Given the description of an element on the screen output the (x, y) to click on. 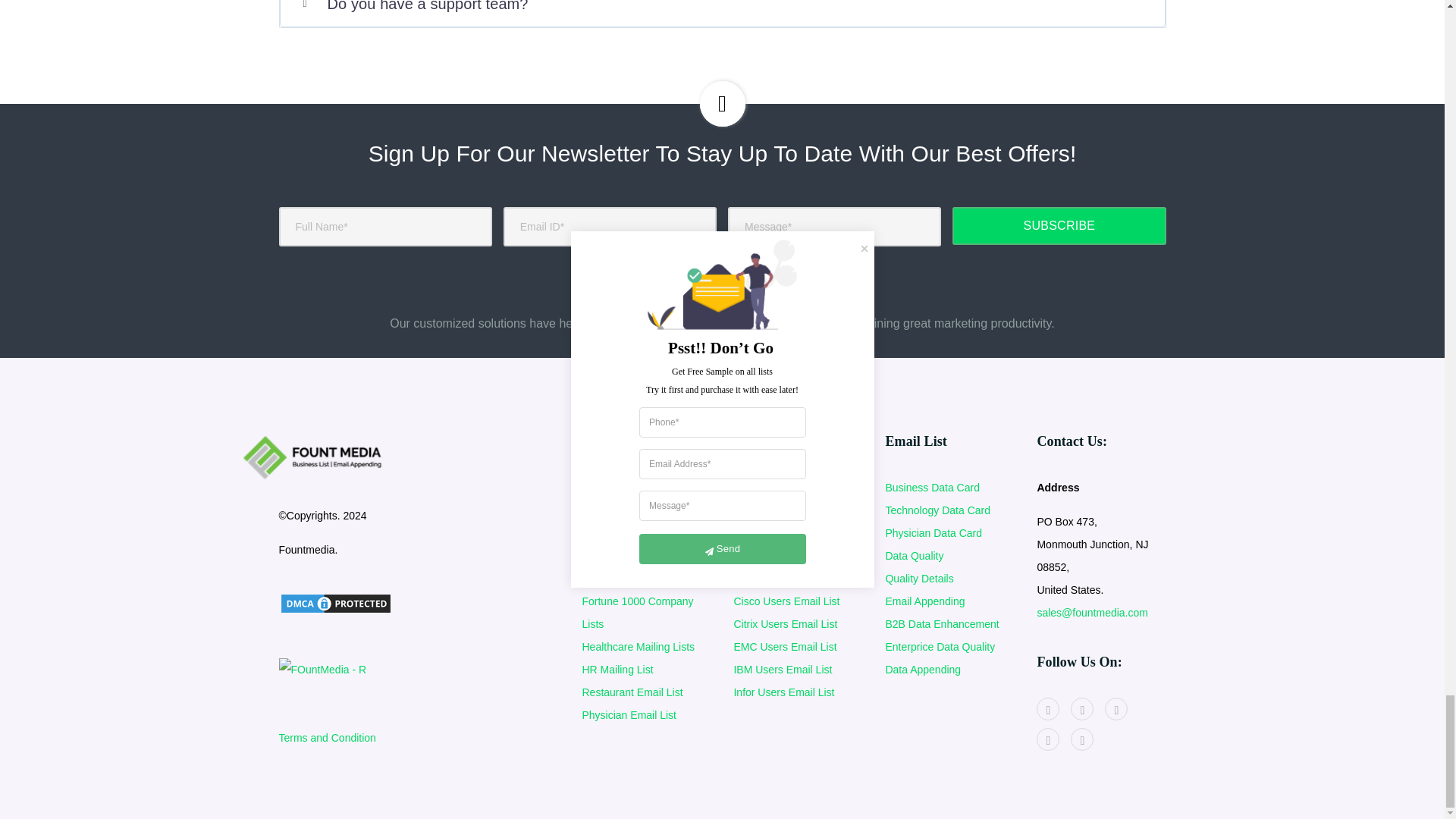
youtube (1081, 708)
pinterest (1115, 708)
DMCA.com Protection Status (336, 603)
facebook (1047, 708)
SUBSCRIBE (1059, 225)
